Given the description of an element on the screen output the (x, y) to click on. 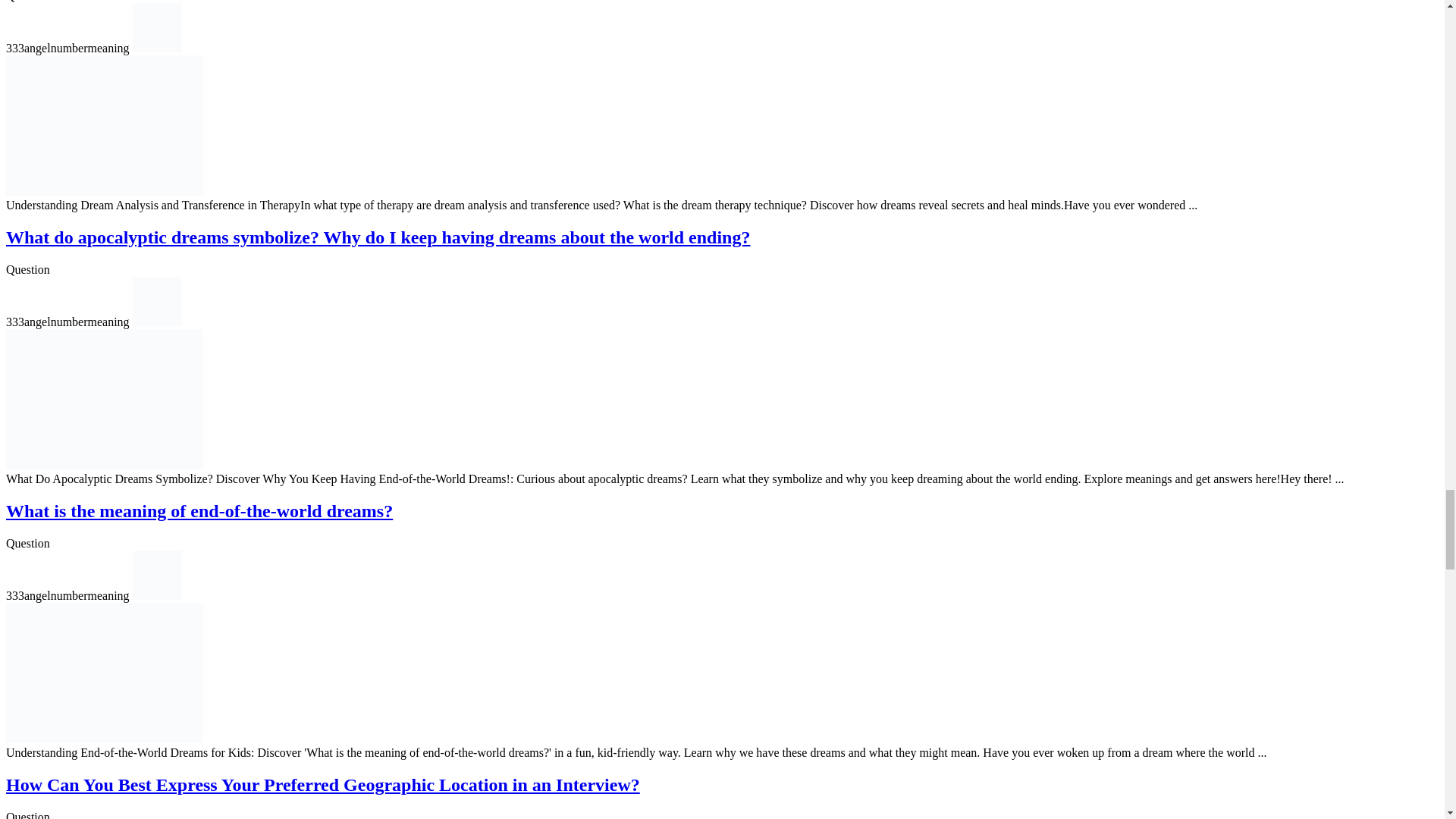
What is the meaning of end-of-the-world dreams? (199, 510)
